Given the description of an element on the screen output the (x, y) to click on. 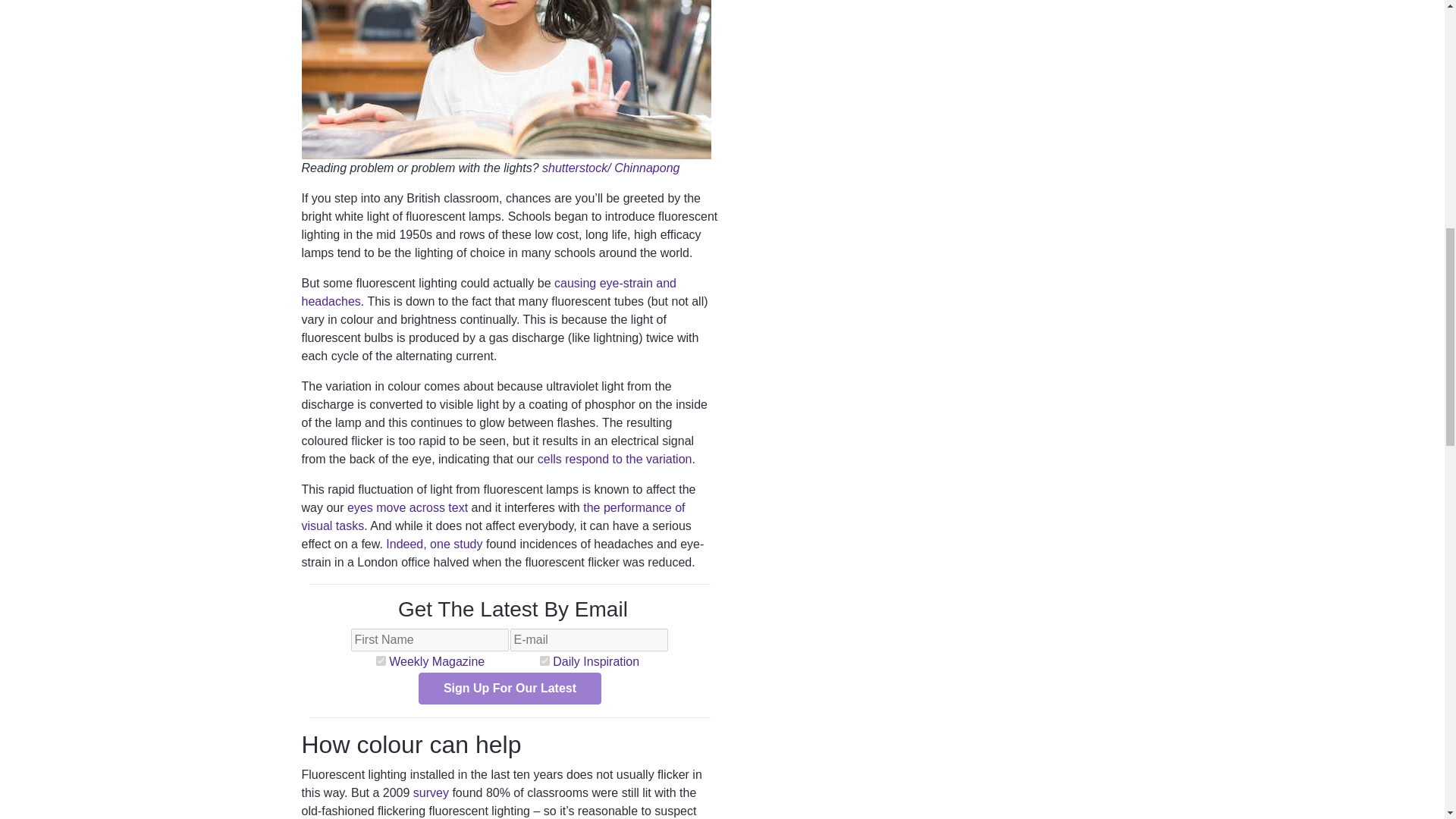
4 (545, 660)
Sign Up For Our Latest (510, 688)
3 (380, 660)
